Given the description of an element on the screen output the (x, y) to click on. 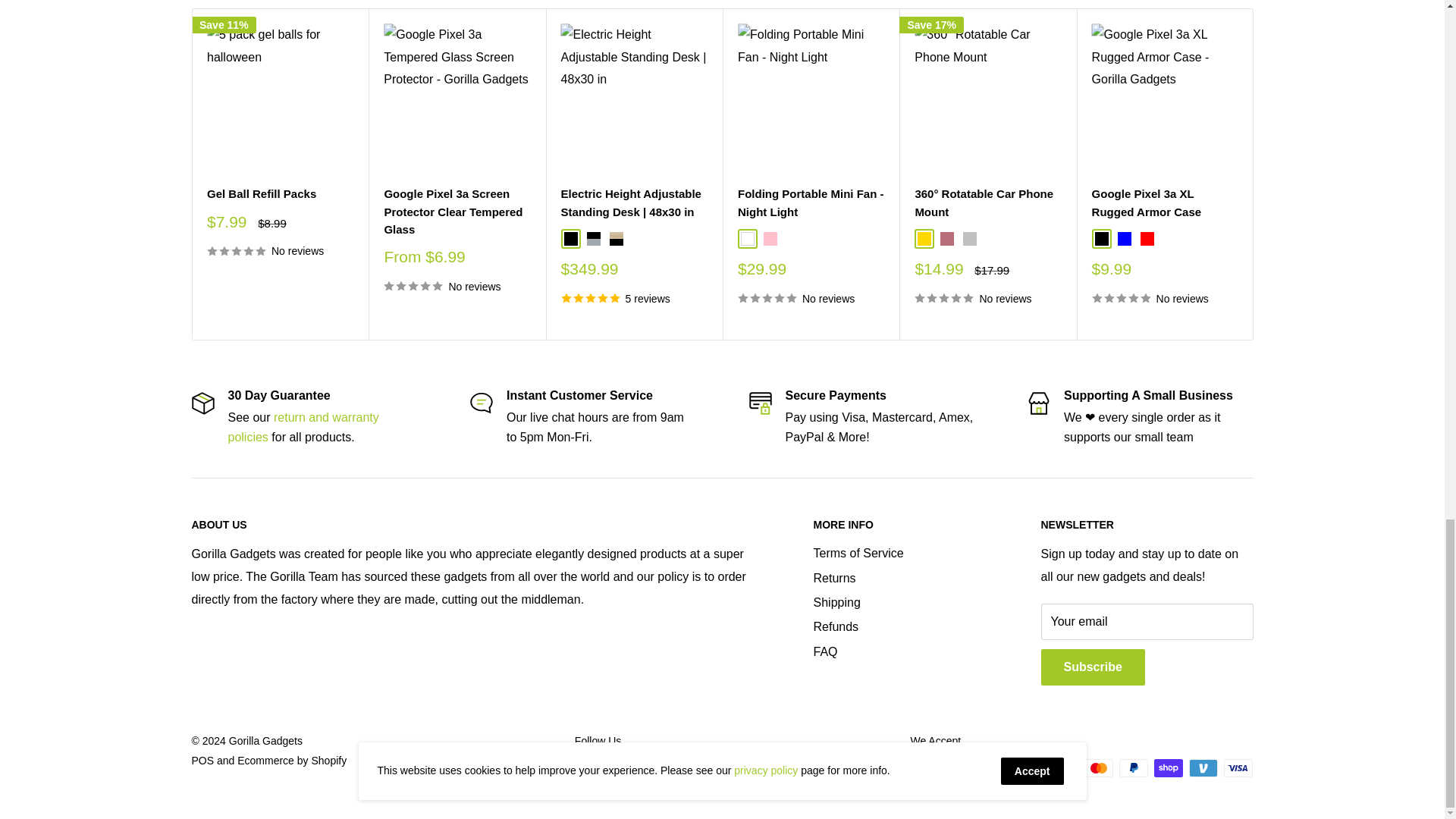
Silver (969, 238)
Black (1101, 238)
Red (1146, 238)
Gold (924, 238)
White (746, 238)
Rose Gold (946, 238)
Pink (769, 238)
Blue (1123, 238)
